Given the description of an element on the screen output the (x, y) to click on. 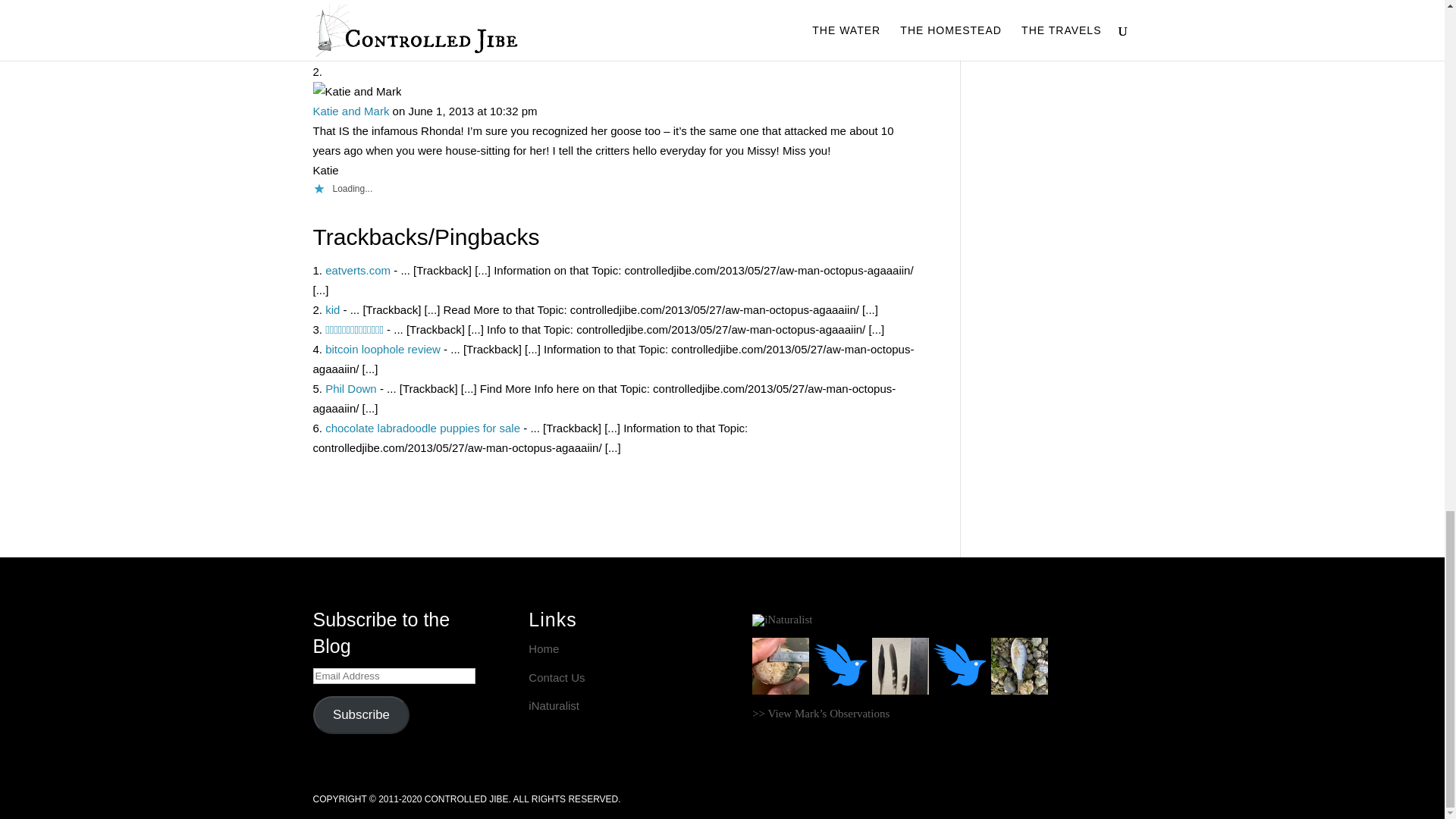
chocolate labradoodle puppies for sale (421, 427)
bitcoin loophole review (382, 349)
Home (543, 648)
Phil Down (350, 388)
eatverts.com (357, 269)
kid (331, 309)
Subscribe (361, 715)
iNaturalist (553, 705)
Katie and Mark (350, 110)
Contact Us (556, 676)
